Given the description of an element on the screen output the (x, y) to click on. 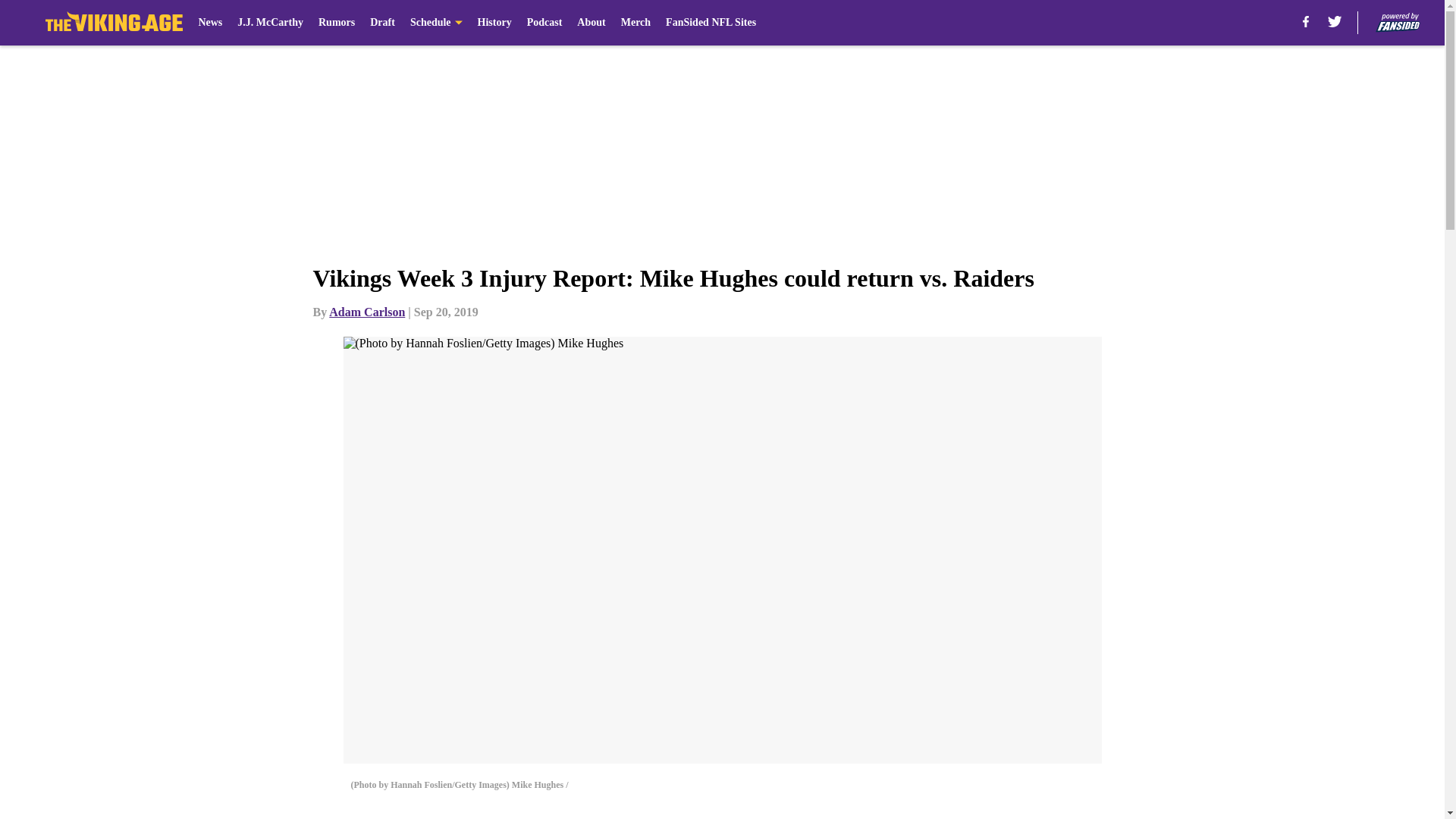
News (210, 22)
Podcast (544, 22)
Adam Carlson (366, 311)
Rumors (336, 22)
Merch (635, 22)
History (494, 22)
Draft (381, 22)
About (590, 22)
FanSided NFL Sites (710, 22)
J.J. McCarthy (269, 22)
